Given the description of an element on the screen output the (x, y) to click on. 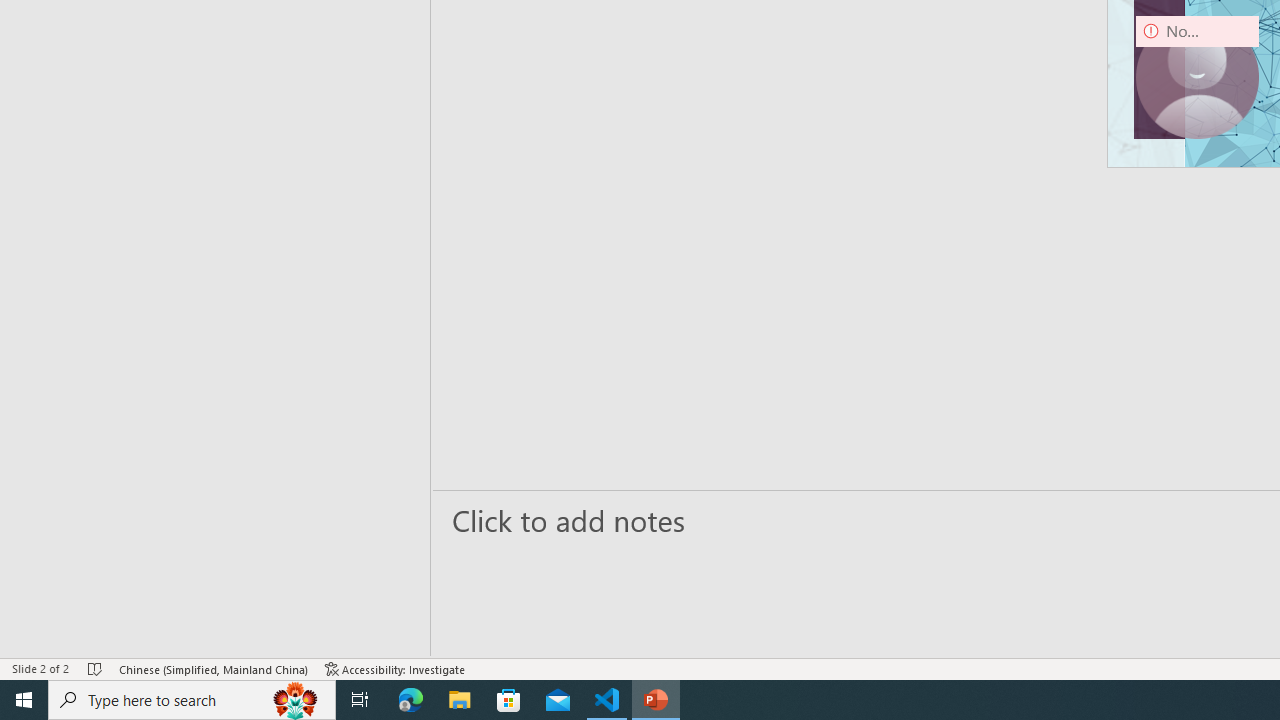
Camera 9, No camera detected. (1197, 77)
Microsoft Edge (411, 699)
Visual Studio Code - 1 running window (607, 699)
Task View (359, 699)
PowerPoint - 1 running window (656, 699)
Microsoft Store (509, 699)
Type here to search (191, 699)
File Explorer (460, 699)
Search highlights icon opens search home window (295, 699)
